Given the description of an element on the screen output the (x, y) to click on. 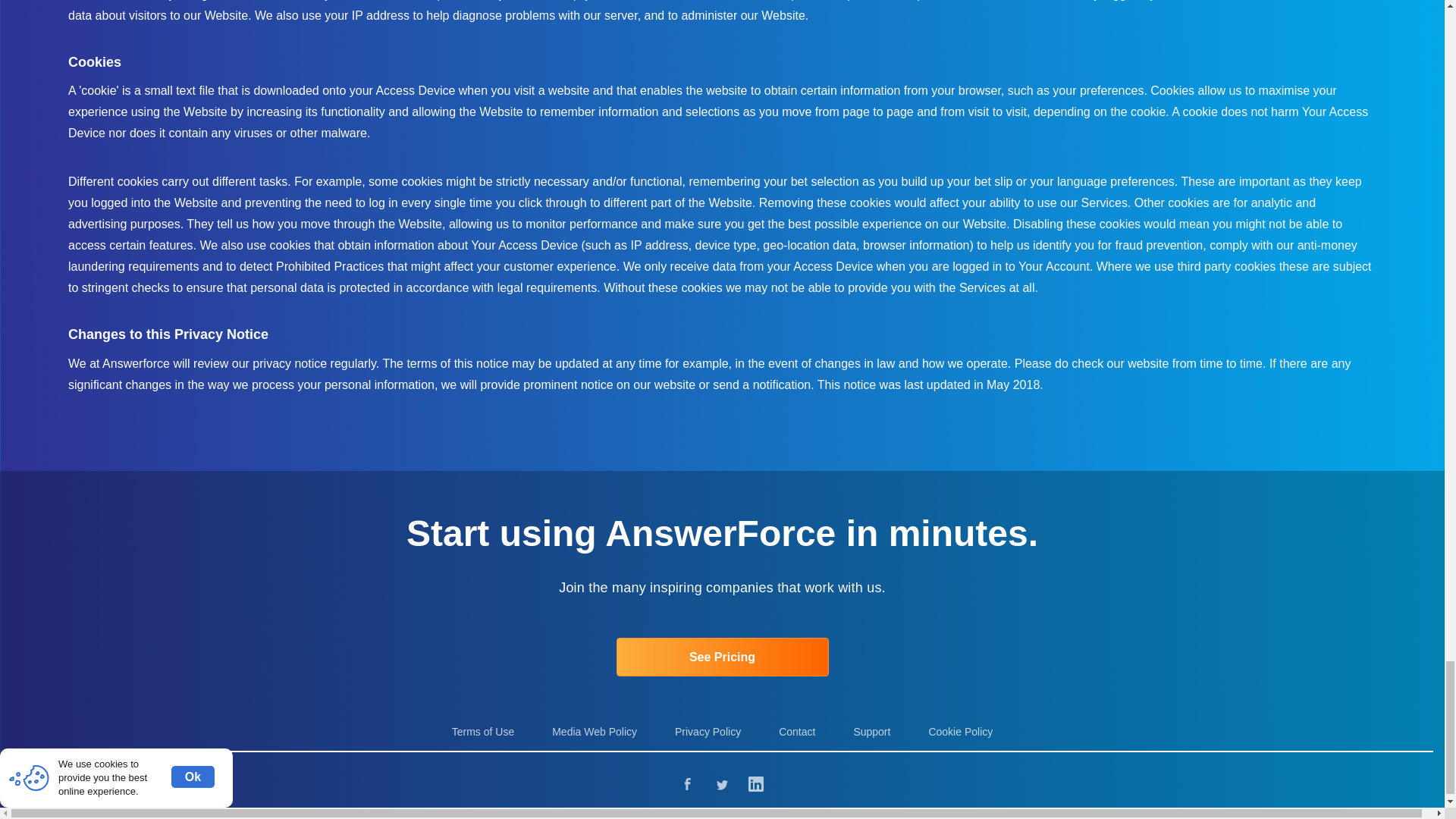
Terms of Use (482, 732)
Cookie Policy (960, 732)
Support (871, 732)
Media Web Policy (594, 732)
Contact (796, 732)
See Pricing (721, 657)
Privacy Policy (708, 732)
